Given the description of an element on the screen output the (x, y) to click on. 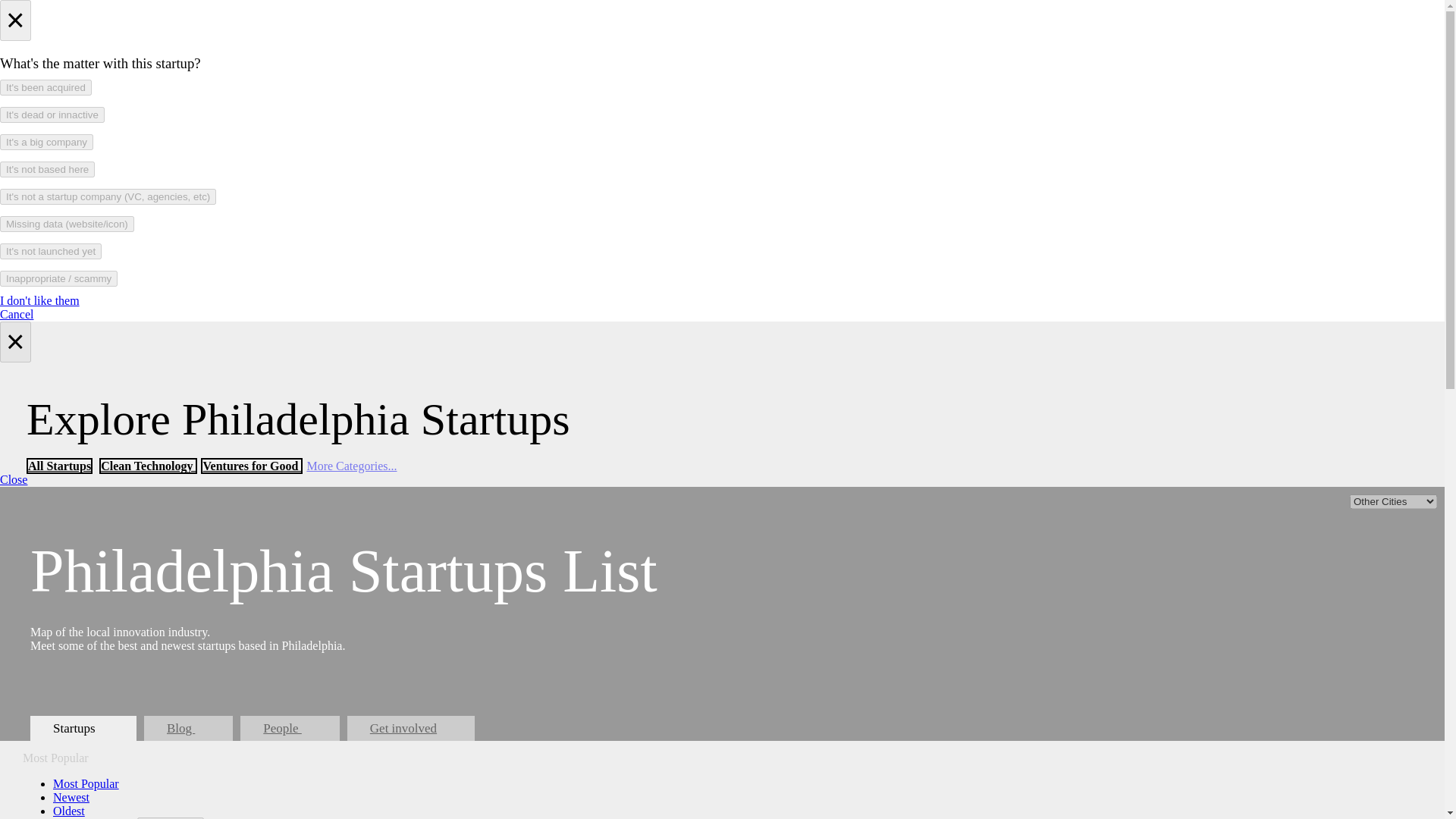
It's dead or innactive (52, 114)
Cancel (16, 314)
All Startups (59, 465)
Clean Technology (147, 465)
It's not launched yet (50, 251)
More Categories... (350, 465)
Close (13, 479)
I don't like them (40, 300)
Ventures for Good (251, 465)
It's a big company (46, 141)
